Given the description of an element on the screen output the (x, y) to click on. 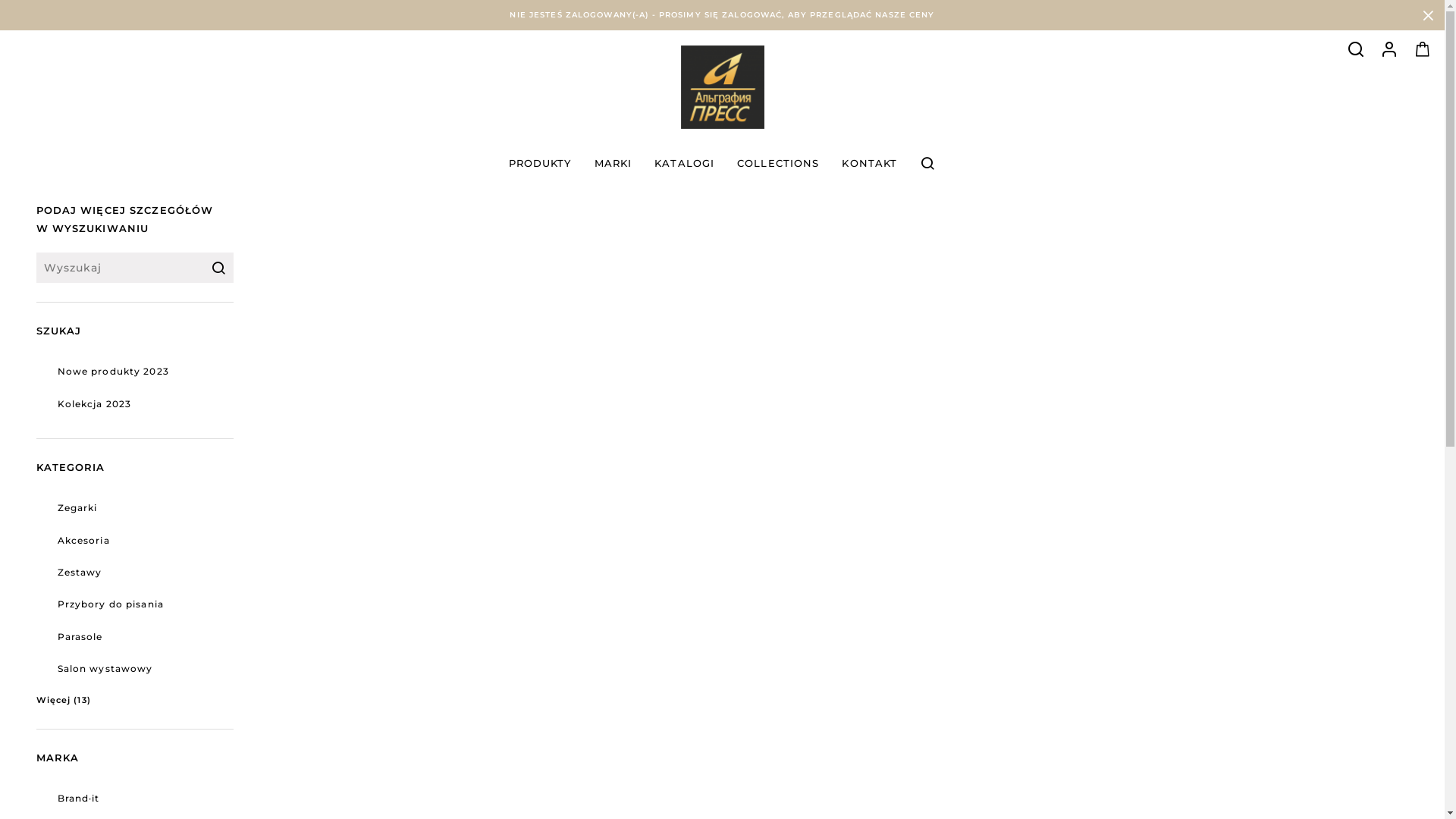
PRODUKTY Element type: text (540, 163)
MARKI Element type: text (613, 163)
KONTAKT Element type: text (869, 163)
COLLECTIONS Element type: text (777, 163)
KATALOGI Element type: text (684, 163)
